Given the description of an element on the screen output the (x, y) to click on. 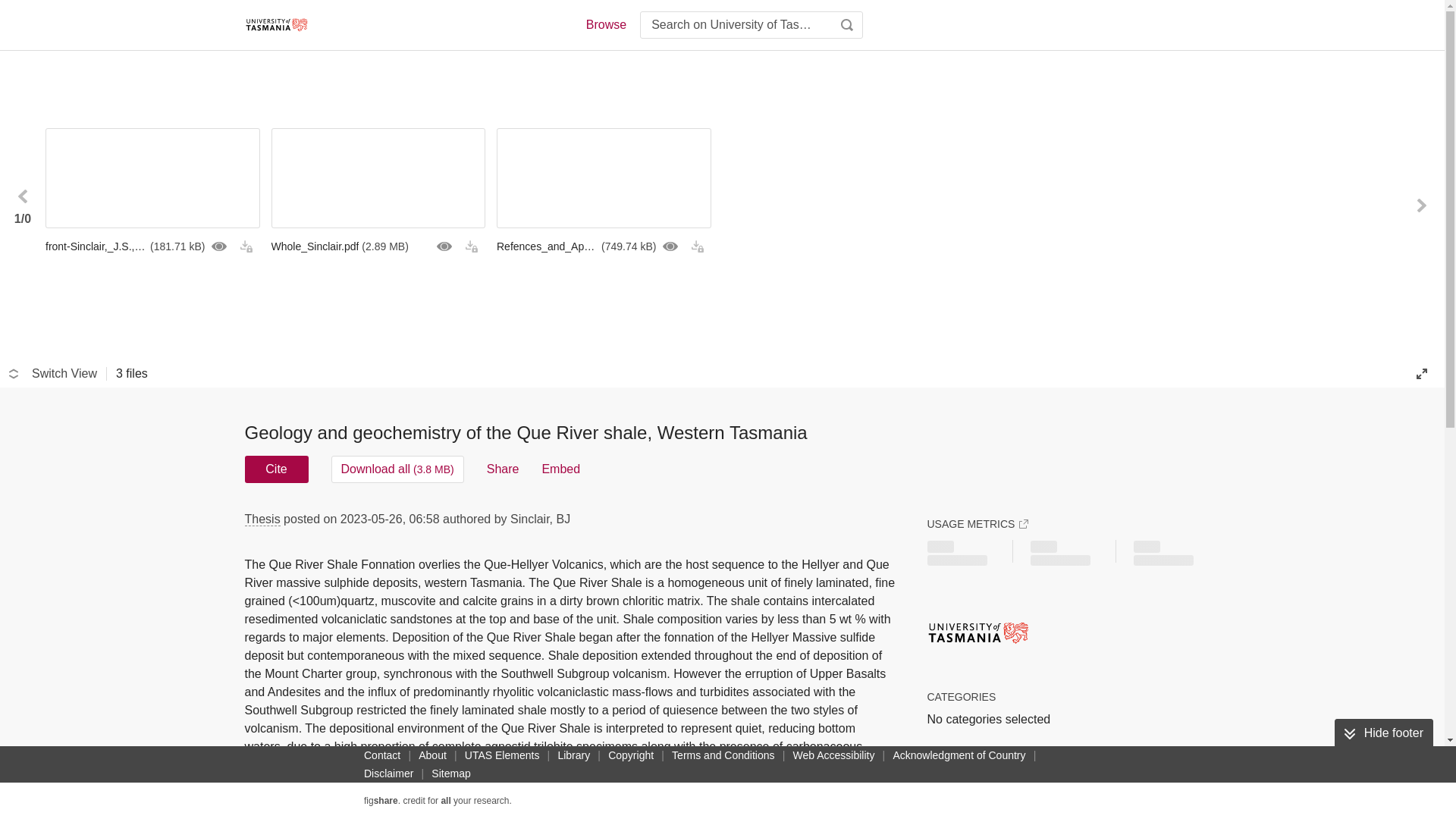
Share (502, 469)
Browse (605, 24)
UTAS Elements (502, 755)
No keyword provided (992, 789)
Cite (275, 469)
Terms and Conditions (722, 755)
Contact (381, 755)
Hide footer (1383, 733)
Copyright (631, 755)
Library (573, 755)
